Given the description of an element on the screen output the (x, y) to click on. 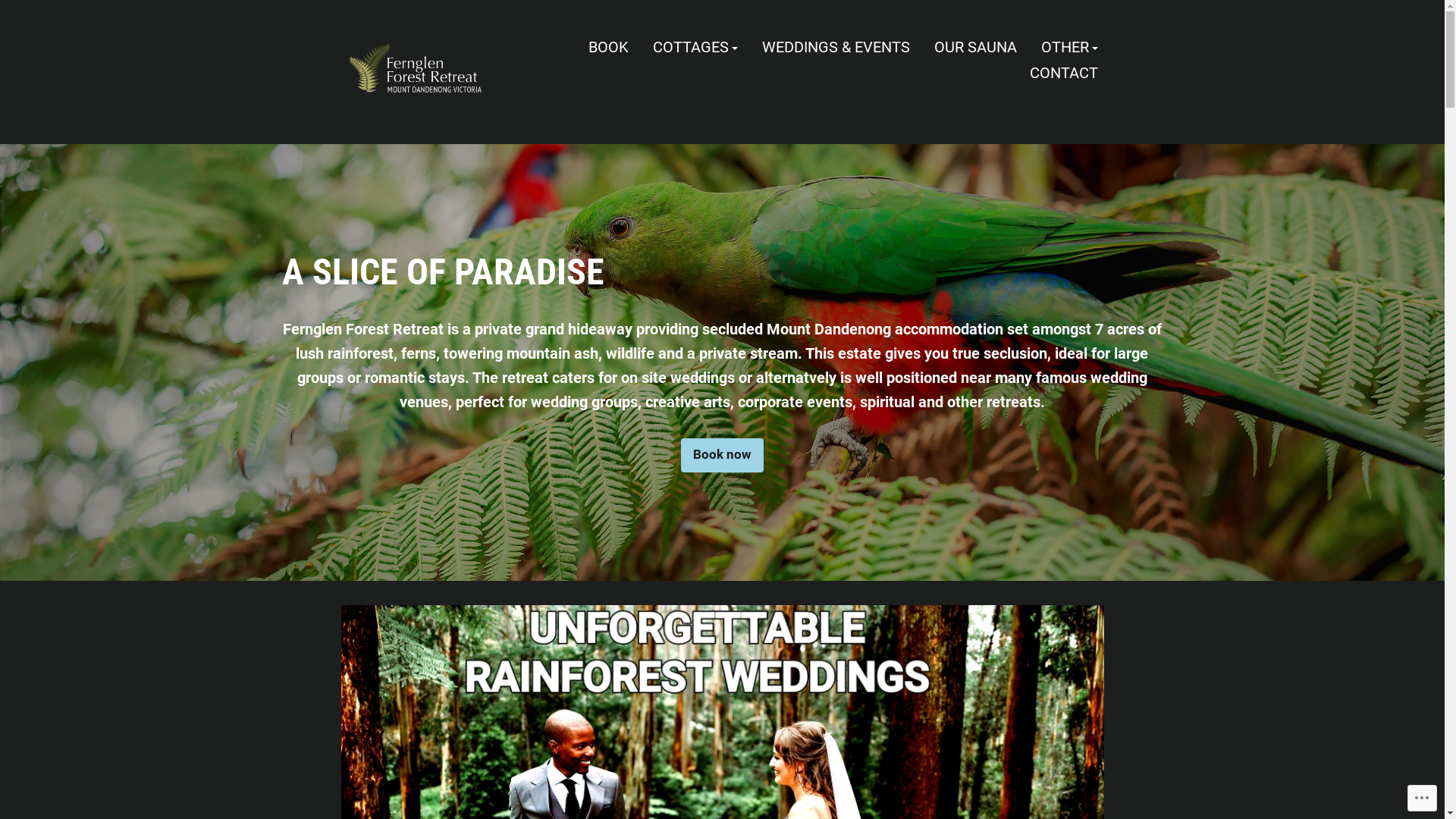
BOOK Element type: text (608, 48)
OUR SAUNA Element type: text (975, 48)
Book now Element type: text (721, 455)
OTHER Element type: text (1068, 48)
CONTACT Element type: text (1063, 72)
COTTAGES Element type: text (694, 48)
Fernglen Forest Retreat Element type: text (445, 112)
WEDDINGS & EVENTS Element type: text (835, 48)
